Given the description of an element on the screen output the (x, y) to click on. 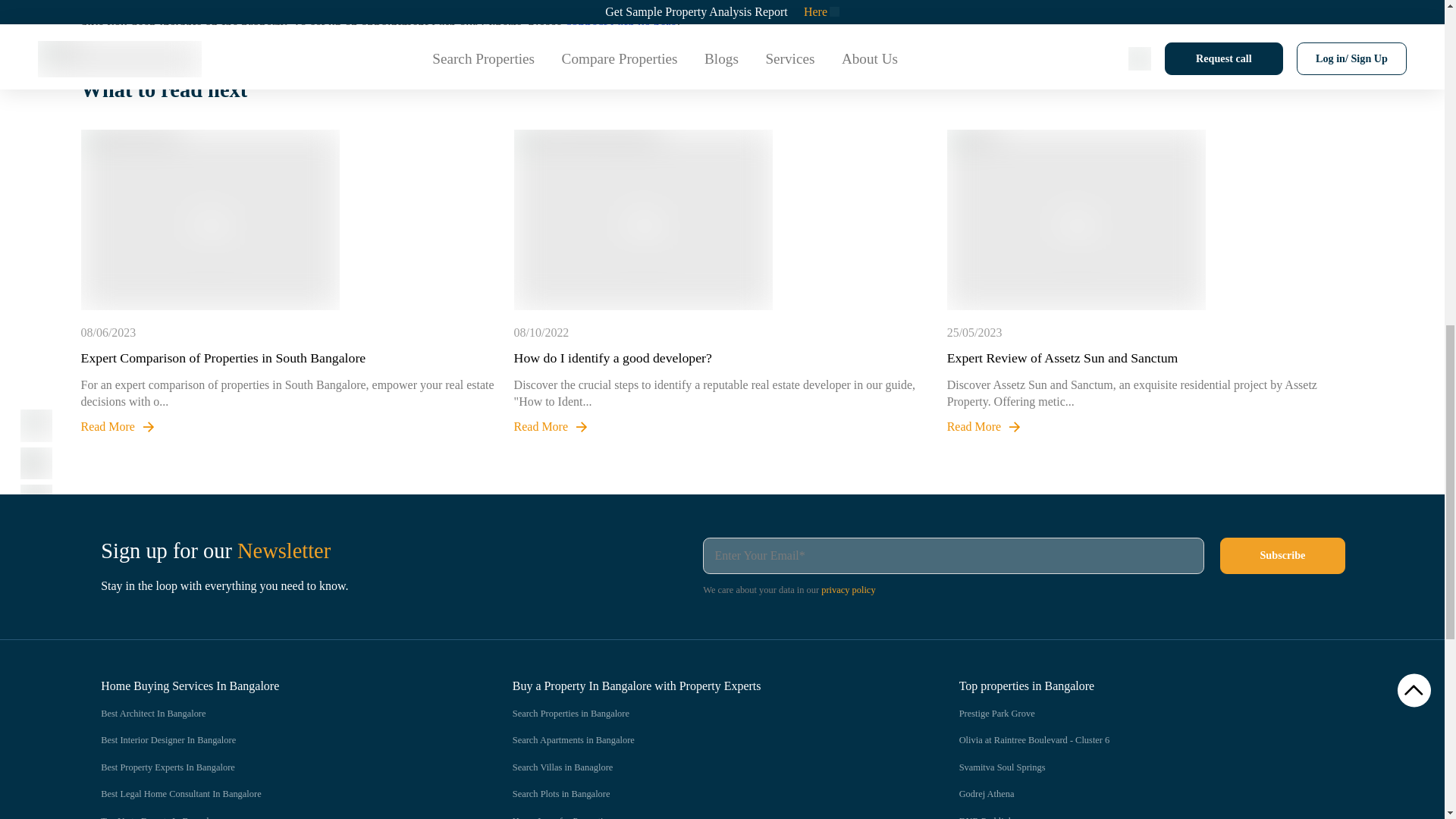
Best Property Experts In Bangalore (275, 767)
connect with us here (621, 25)
privacy policy (848, 589)
Best Interior Designer In Bangalore (275, 740)
Top Vastu Experts In Bangalore (275, 816)
Search Plots in Bangalore (705, 794)
Best Legal Home Consultant In Bangalore (275, 794)
Svamitva Soul Springs (1152, 767)
Subscribe (1281, 555)
